Given the description of an element on the screen output the (x, y) to click on. 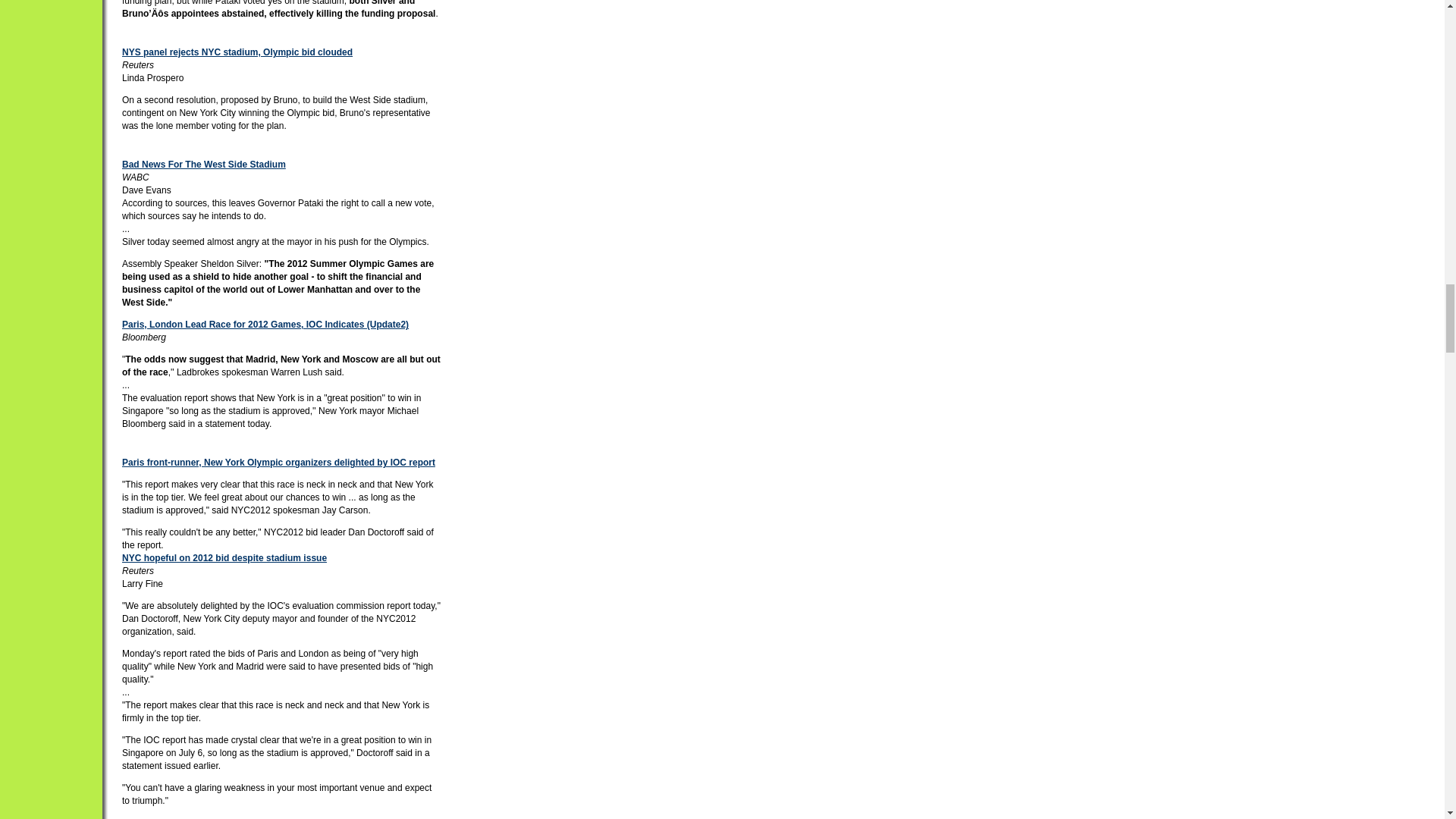
Bad News For The West Side Stadium (203, 163)
NYS panel rejects NYC stadium, Olympic bid clouded (237, 51)
NYC hopeful on 2012 bid despite stadium issue (224, 557)
